Given the description of an element on the screen output the (x, y) to click on. 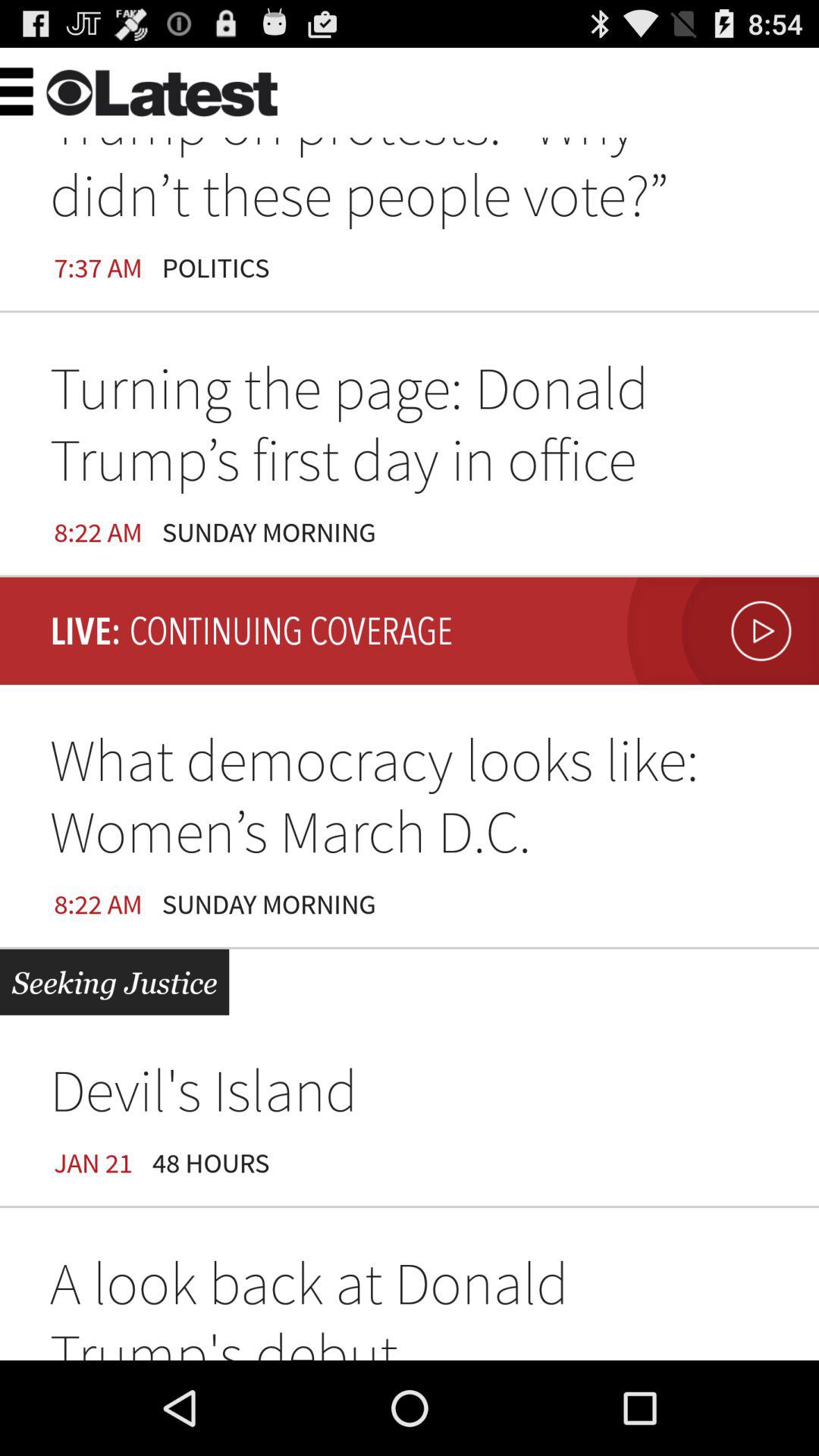
select the app above the 7:37 am app (288, 87)
